Given the description of an element on the screen output the (x, y) to click on. 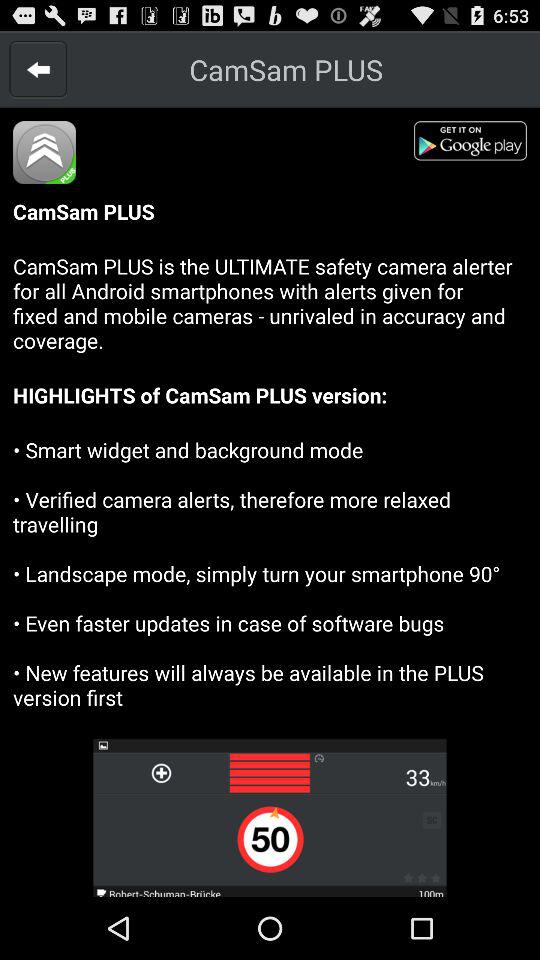
click item to the left of the camsam plus item (38, 69)
